Given the description of an element on the screen output the (x, y) to click on. 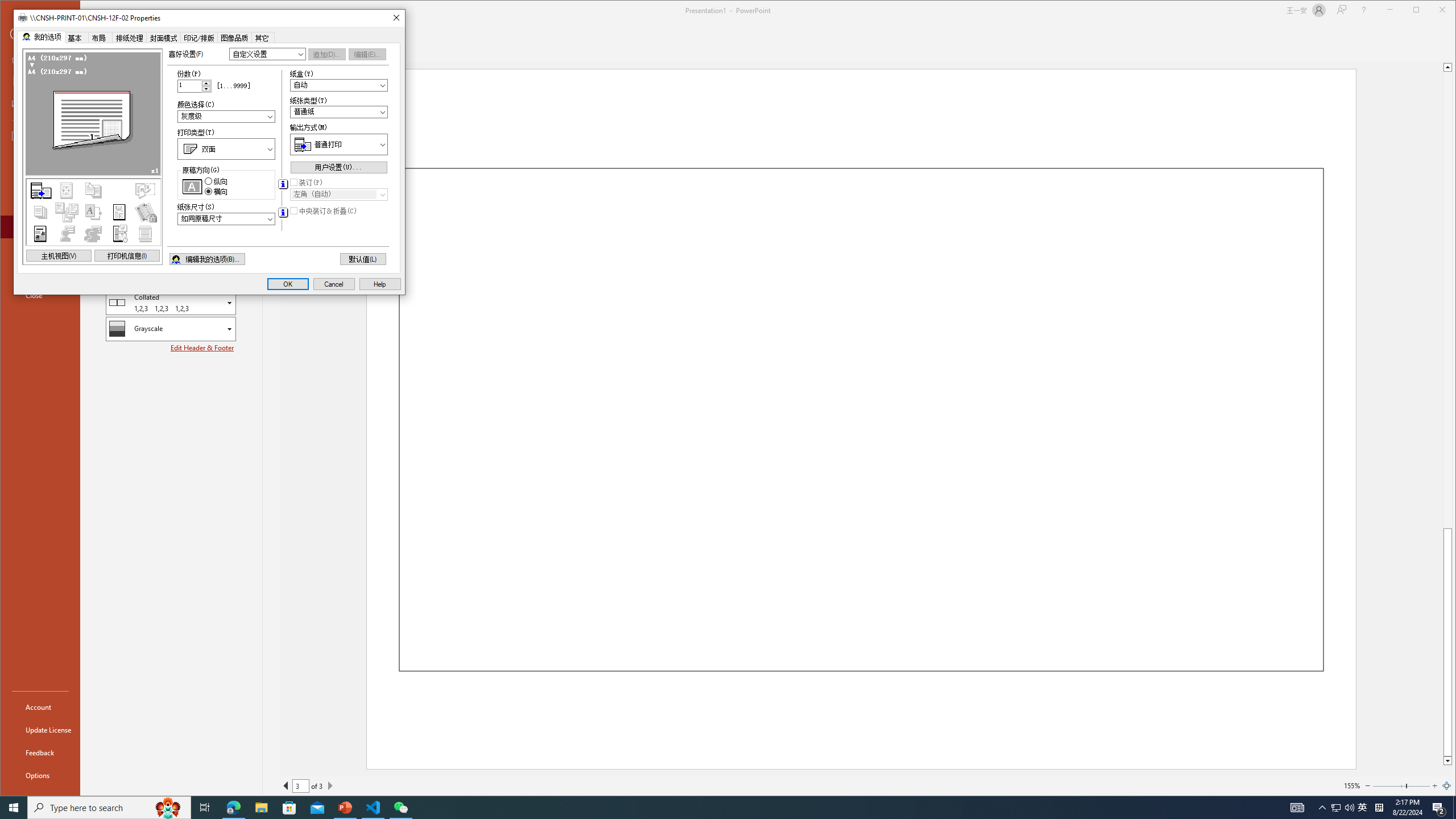
User Promoted Notification Area (1342, 807)
Open (382, 194)
AutomationID: 1199 (92, 156)
Next Page (329, 785)
More (205, 82)
Summary (93, 211)
Update License (40, 729)
Maximize (1432, 11)
Search highlights icon opens search home window (167, 807)
Page right (1418, 785)
